Given the description of an element on the screen output the (x, y) to click on. 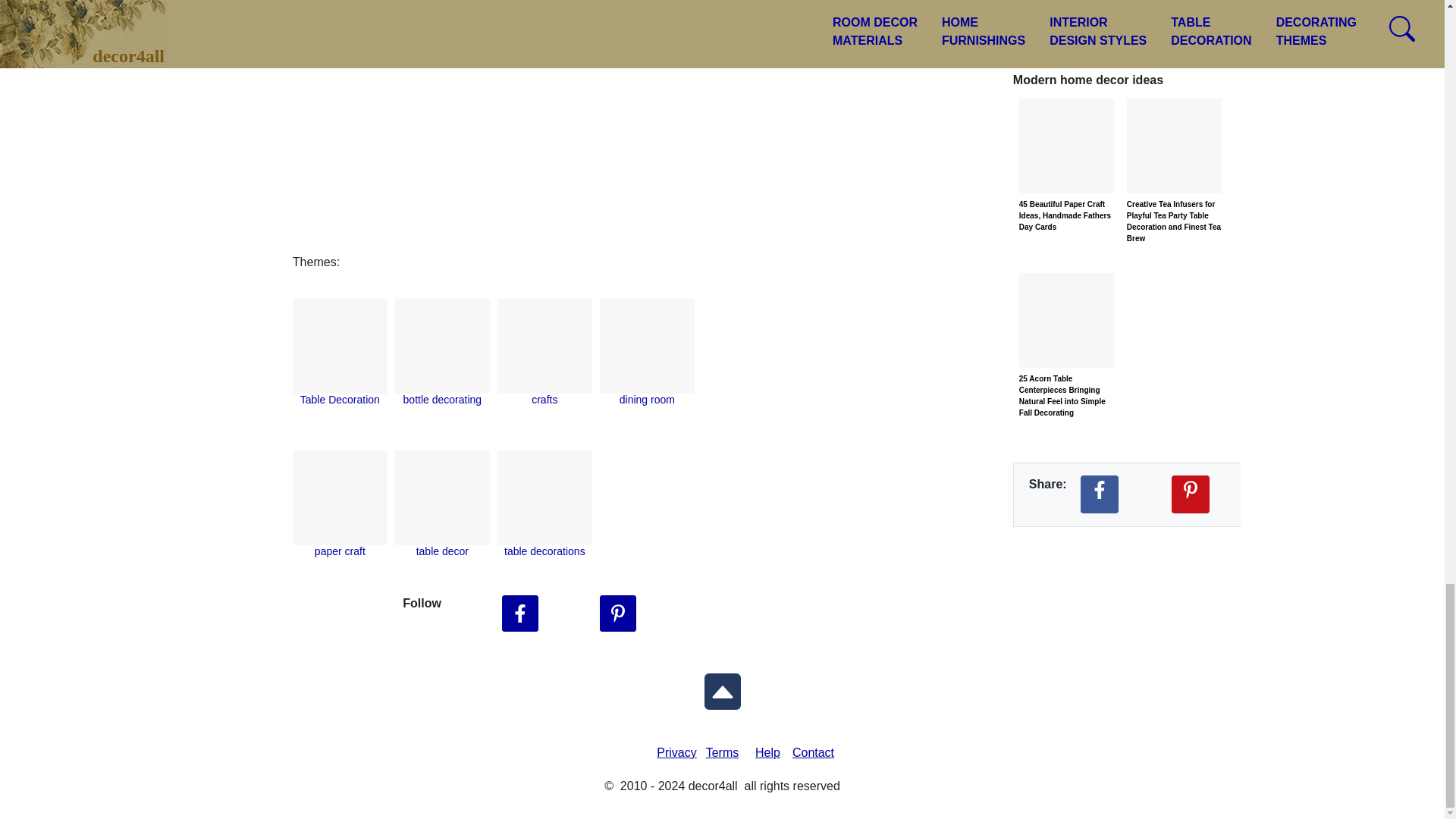
dining room (647, 399)
crafts (544, 399)
table decorations (544, 551)
Table Decoration (339, 399)
bottle decorating (442, 399)
paper craft (339, 551)
table decor (442, 551)
